Given the description of an element on the screen output the (x, y) to click on. 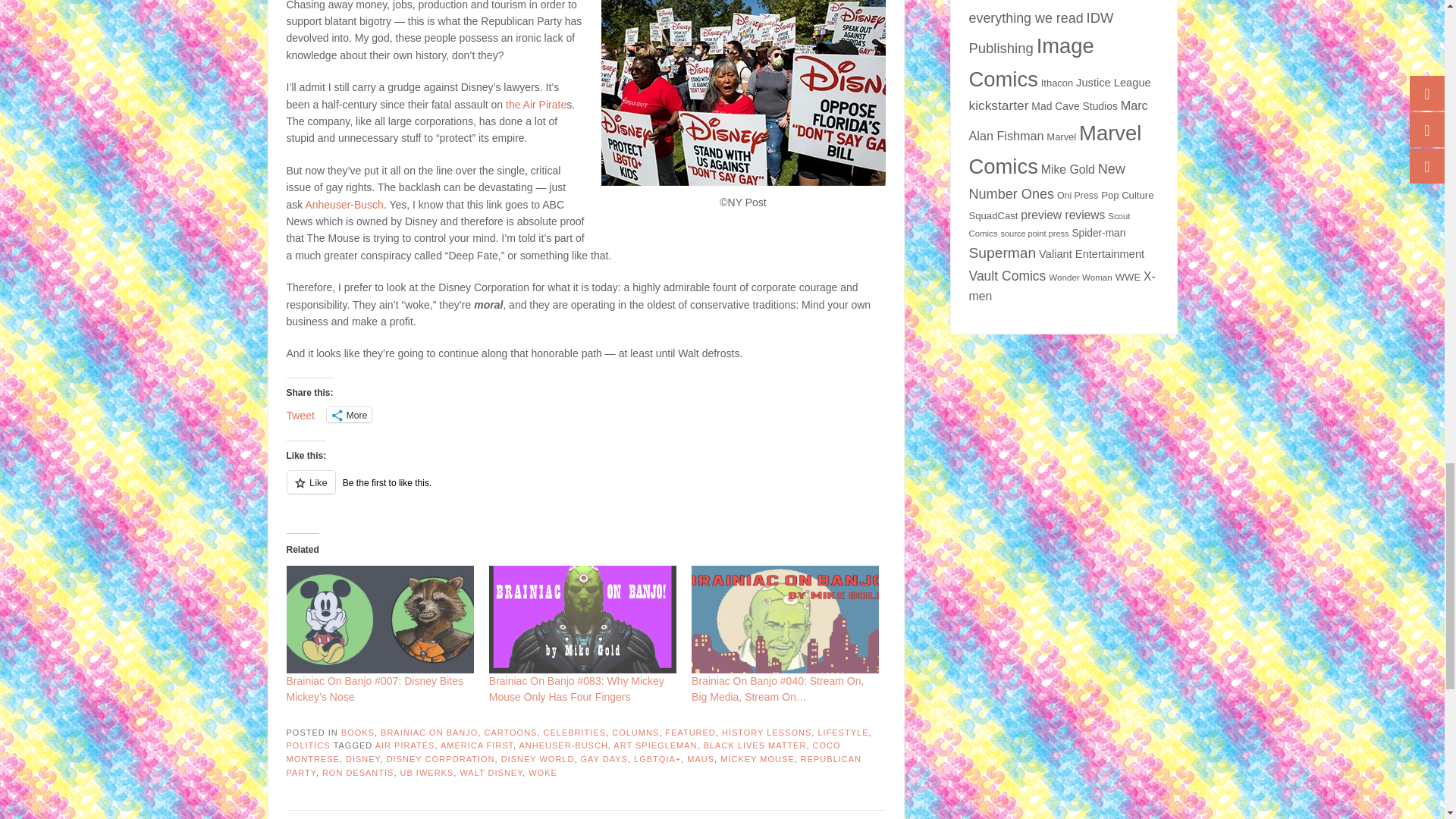
Like or Reblog (585, 490)
